Given the description of an element on the screen output the (x, y) to click on. 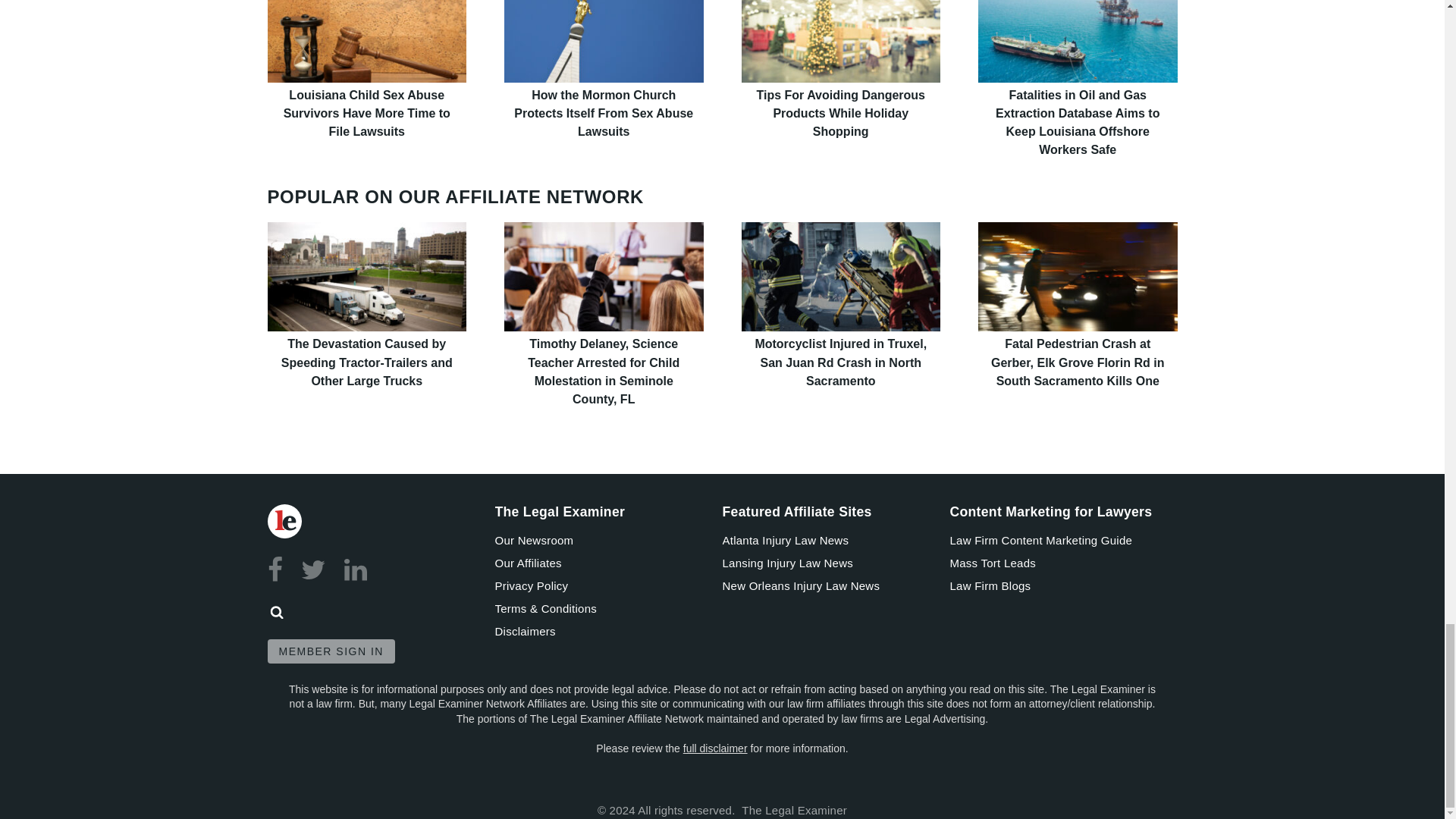
Legal Examiner on Twitter (313, 569)
Tips For Avoiding Dangerous Products While Holiday Shopping (840, 40)
